Given the description of an element on the screen output the (x, y) to click on. 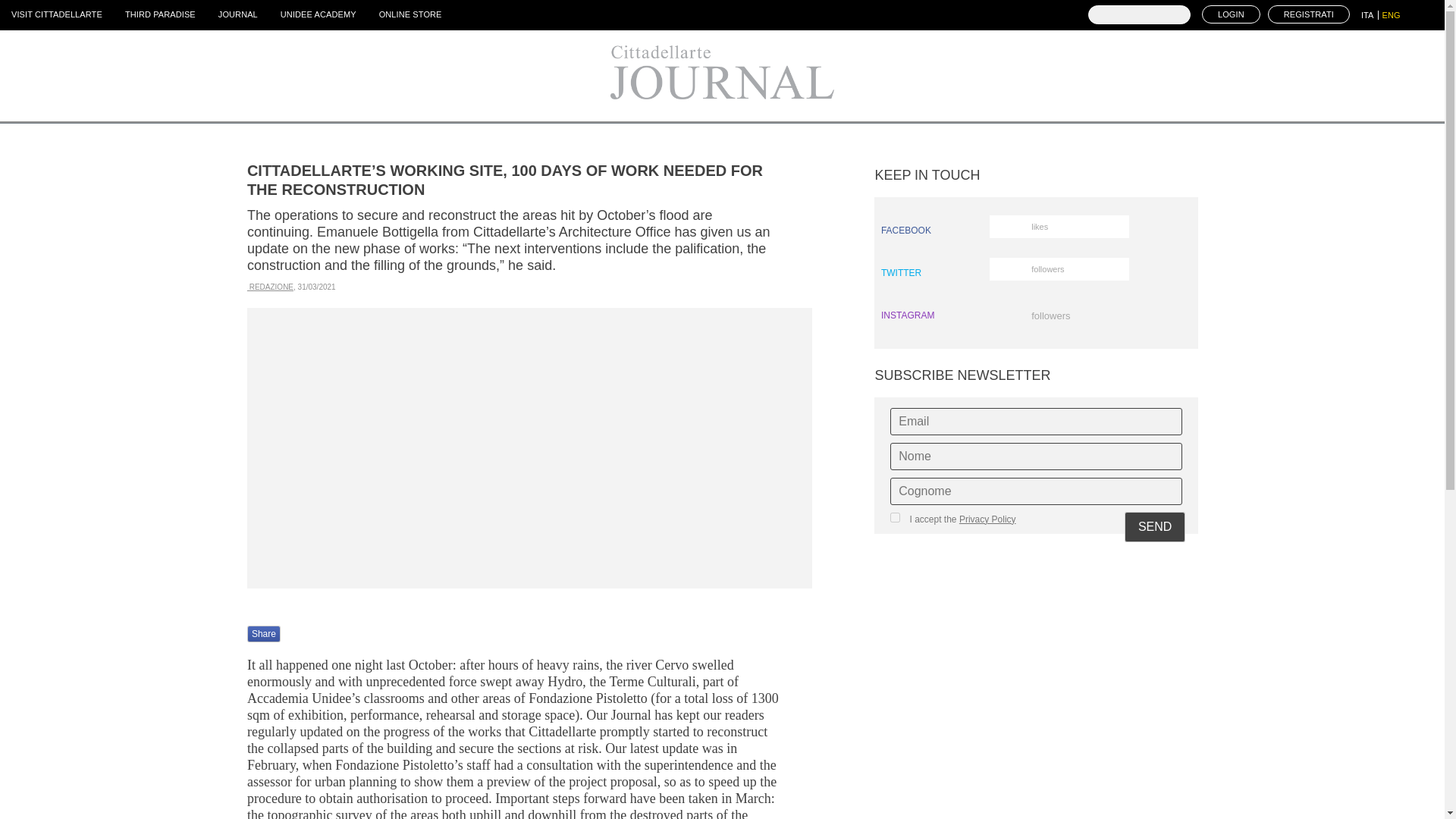
SEND (1154, 526)
VISIT CITTADELLARTE (56, 14)
LOGIN (1231, 13)
THIRD PARADISE (159, 14)
on (894, 517)
ITA (1035, 273)
UNIDEE ACADEMY (1035, 230)
REGISTRATI (1369, 14)
Share (318, 14)
JOURNAL (1308, 13)
ENG (264, 633)
ONLINE STORE (237, 14)
